Given the description of an element on the screen output the (x, y) to click on. 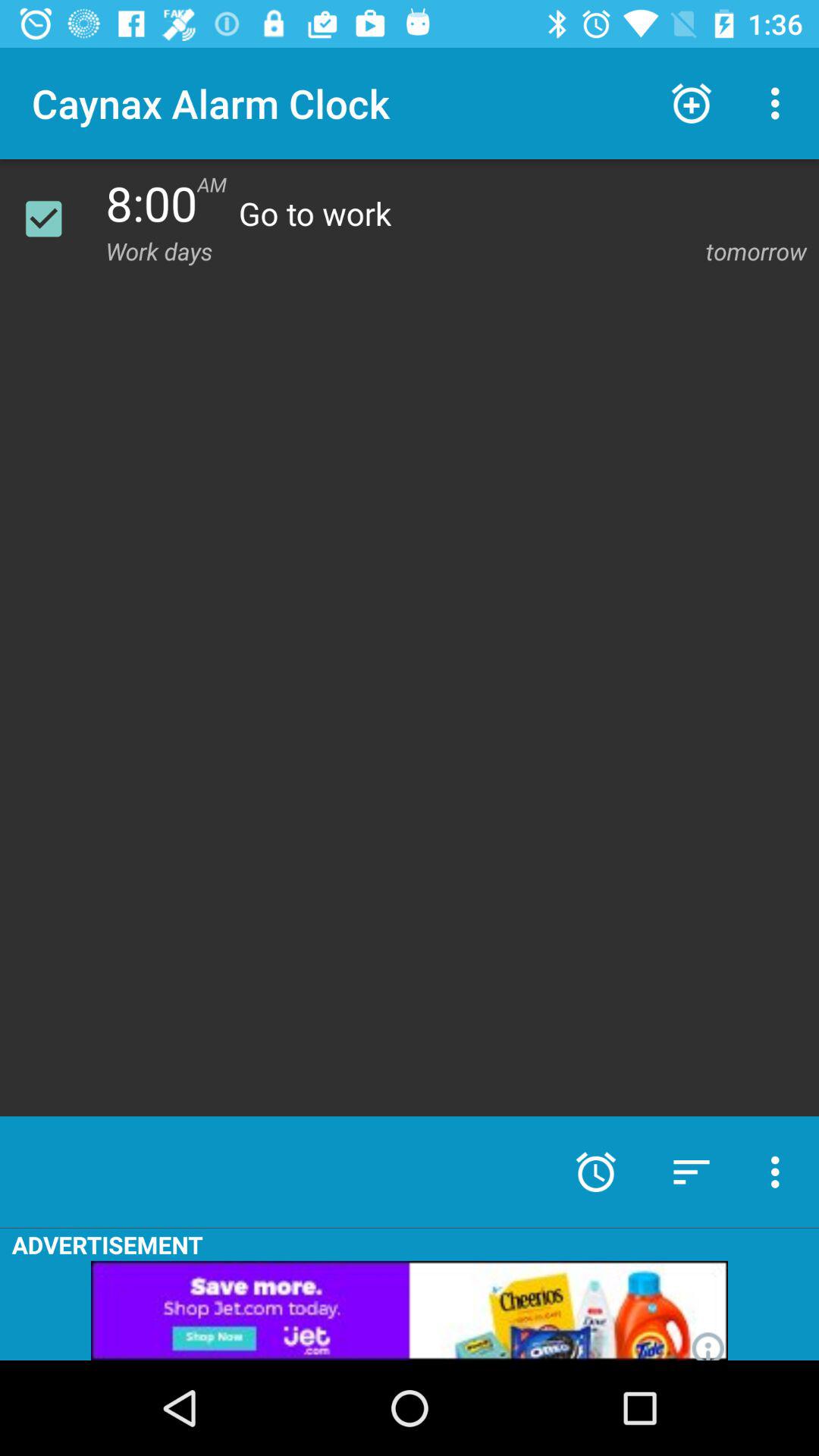
link to advertisement (409, 1310)
